Given the description of an element on the screen output the (x, y) to click on. 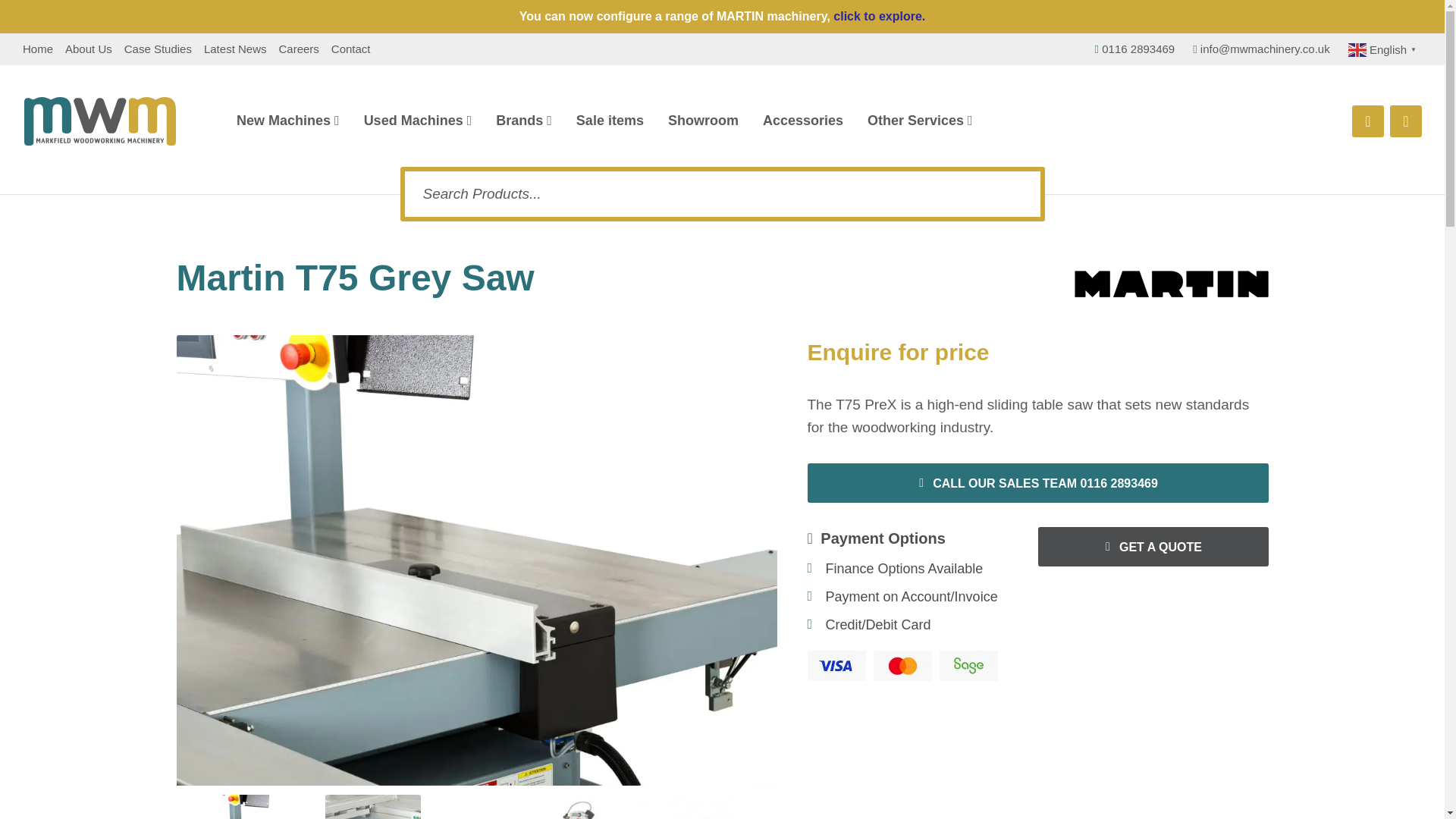
click to explore. (878, 15)
About Us (88, 48)
Contact (351, 48)
Careers (298, 48)
Case Studies (157, 48)
Home (37, 48)
New Machines (287, 120)
0116 2893469 (1134, 49)
Latest News (234, 48)
